Given the description of an element on the screen output the (x, y) to click on. 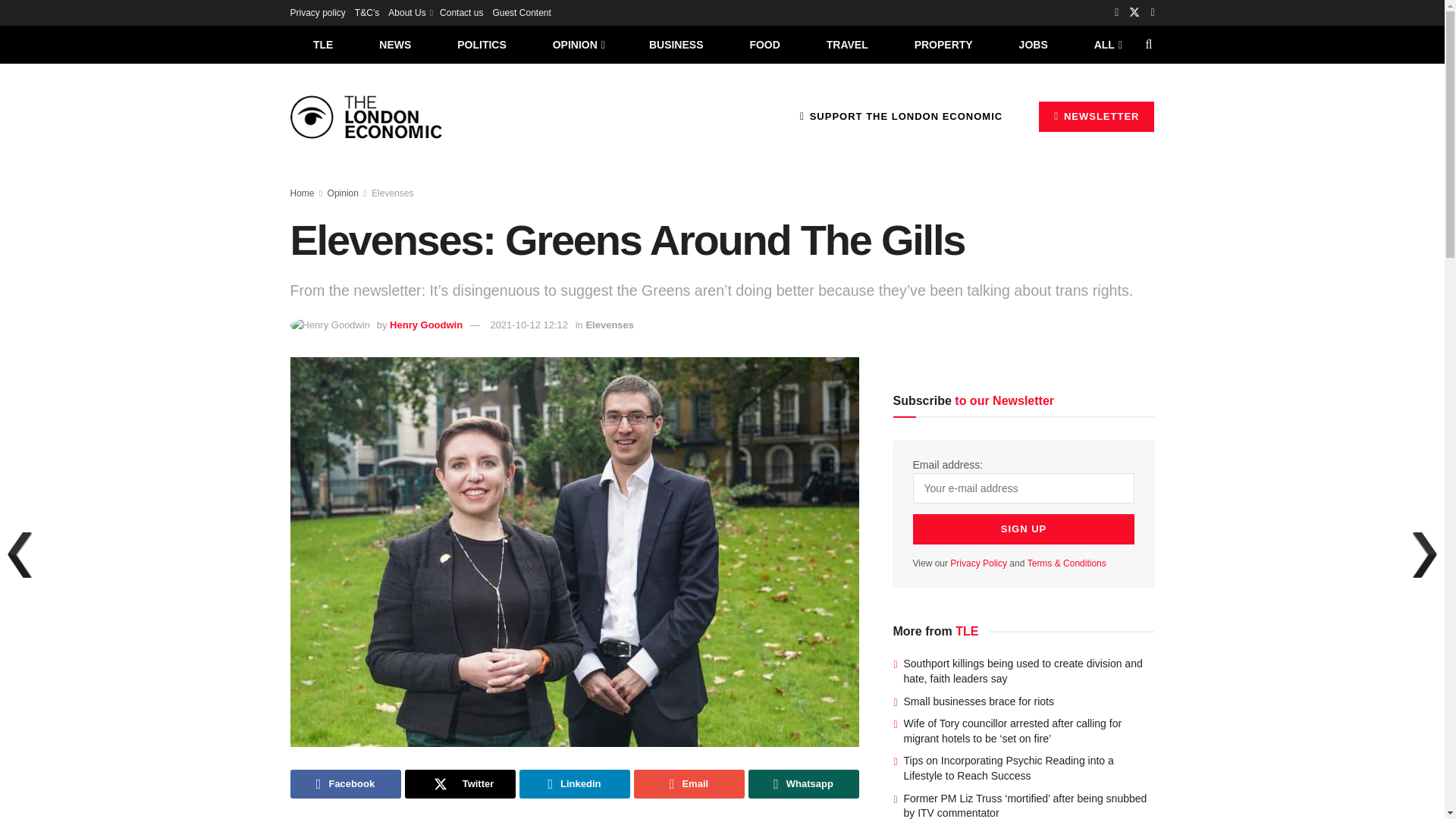
Contact us (461, 12)
BUSINESS (676, 44)
Sign up (1023, 529)
SUPPORT THE LONDON ECONOMIC (900, 116)
POLITICS (481, 44)
Privacy policy (317, 12)
About Us (409, 12)
NEWS (394, 44)
FOOD (764, 44)
ALL (1106, 44)
